Given the description of an element on the screen output the (x, y) to click on. 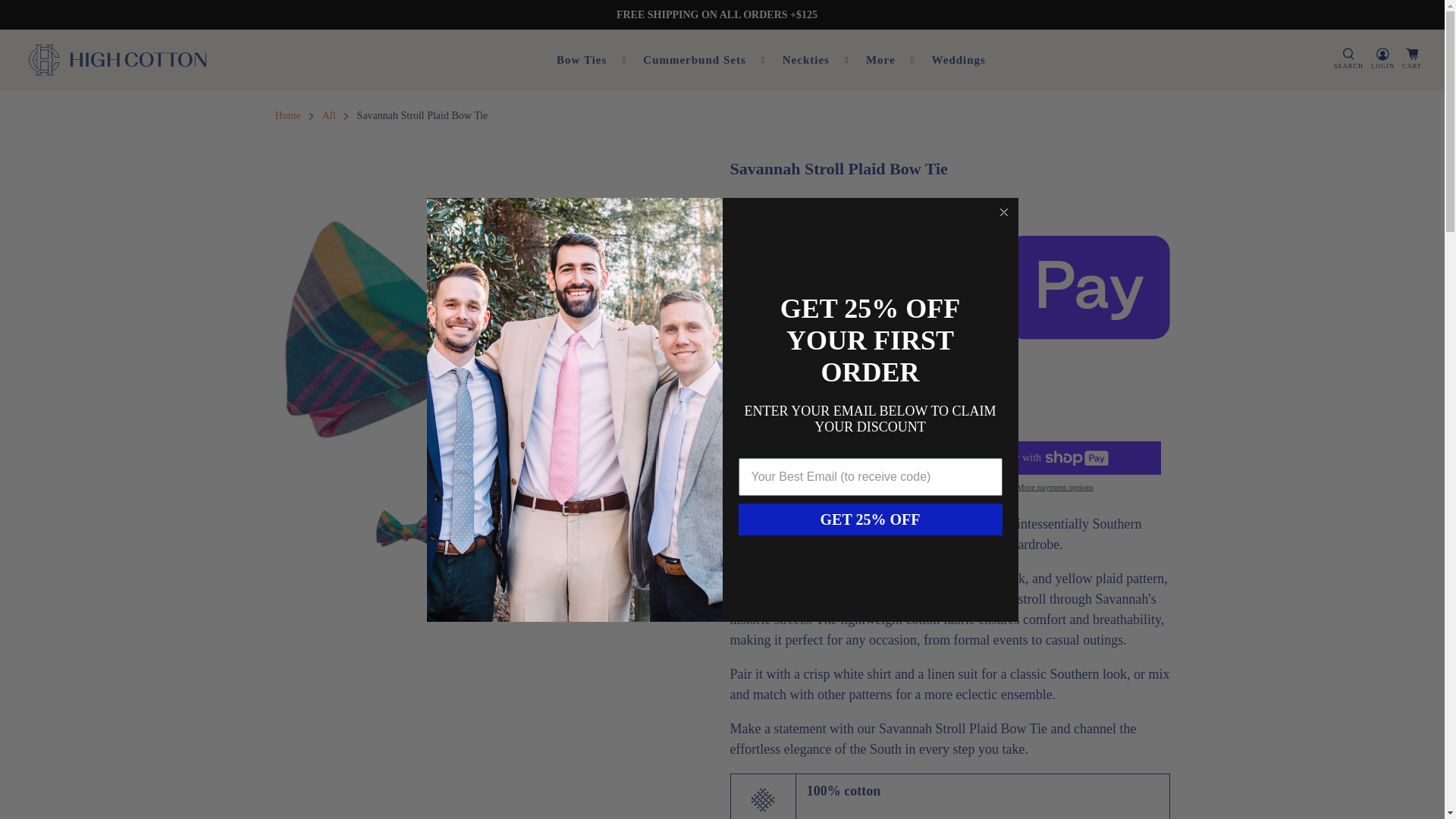
Bow Ties (591, 59)
Neckties (815, 59)
Cummerbund Sets (704, 59)
High Cotton (117, 59)
High Cotton (287, 116)
